Given the description of an element on the screen output the (x, y) to click on. 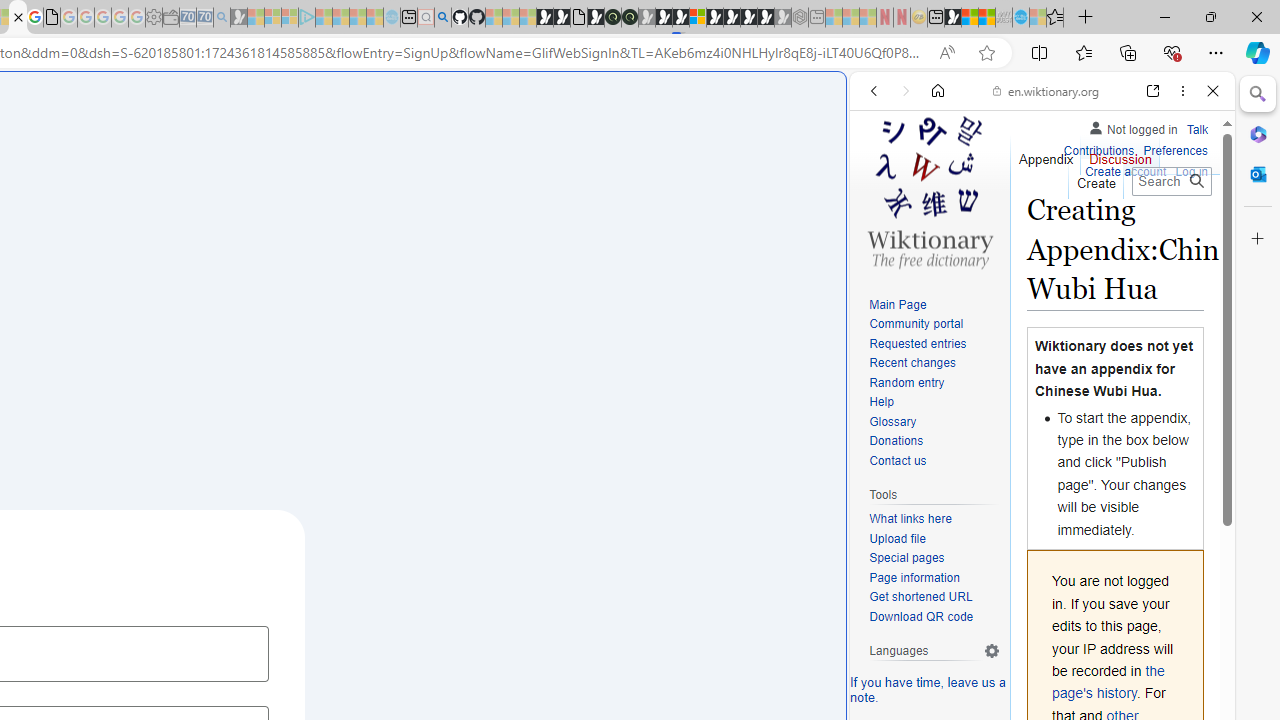
If you have time, leave us a note. (927, 689)
github - Search (442, 17)
Contributions (1098, 148)
Visit the main page (929, 190)
Not logged in (1132, 126)
Main Page (934, 305)
